Given the description of an element on the screen output the (x, y) to click on. 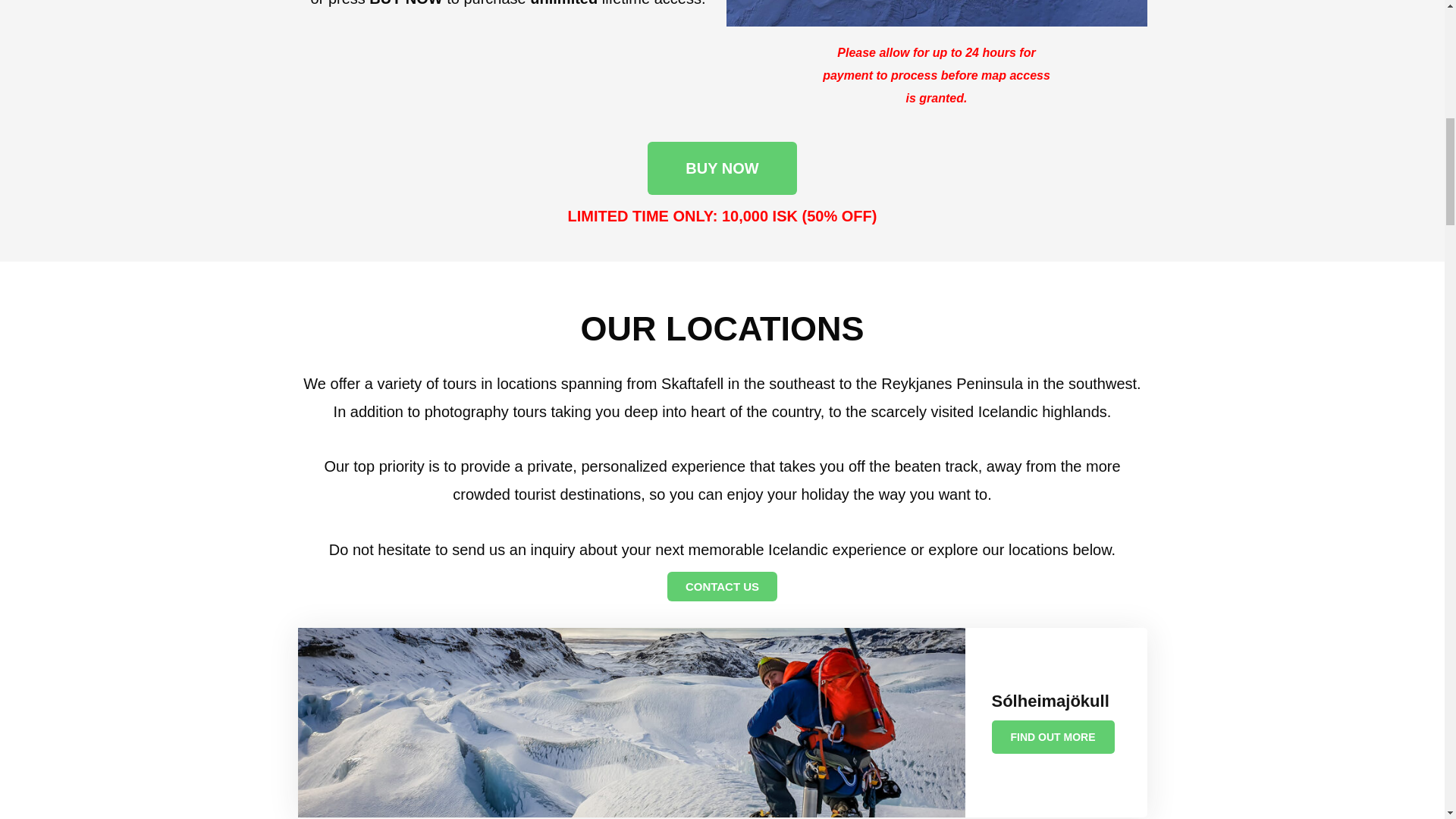
BUY NOW (721, 167)
FIND OUT MORE (1053, 736)
CONTACT US (721, 586)
